Given the description of an element on the screen output the (x, y) to click on. 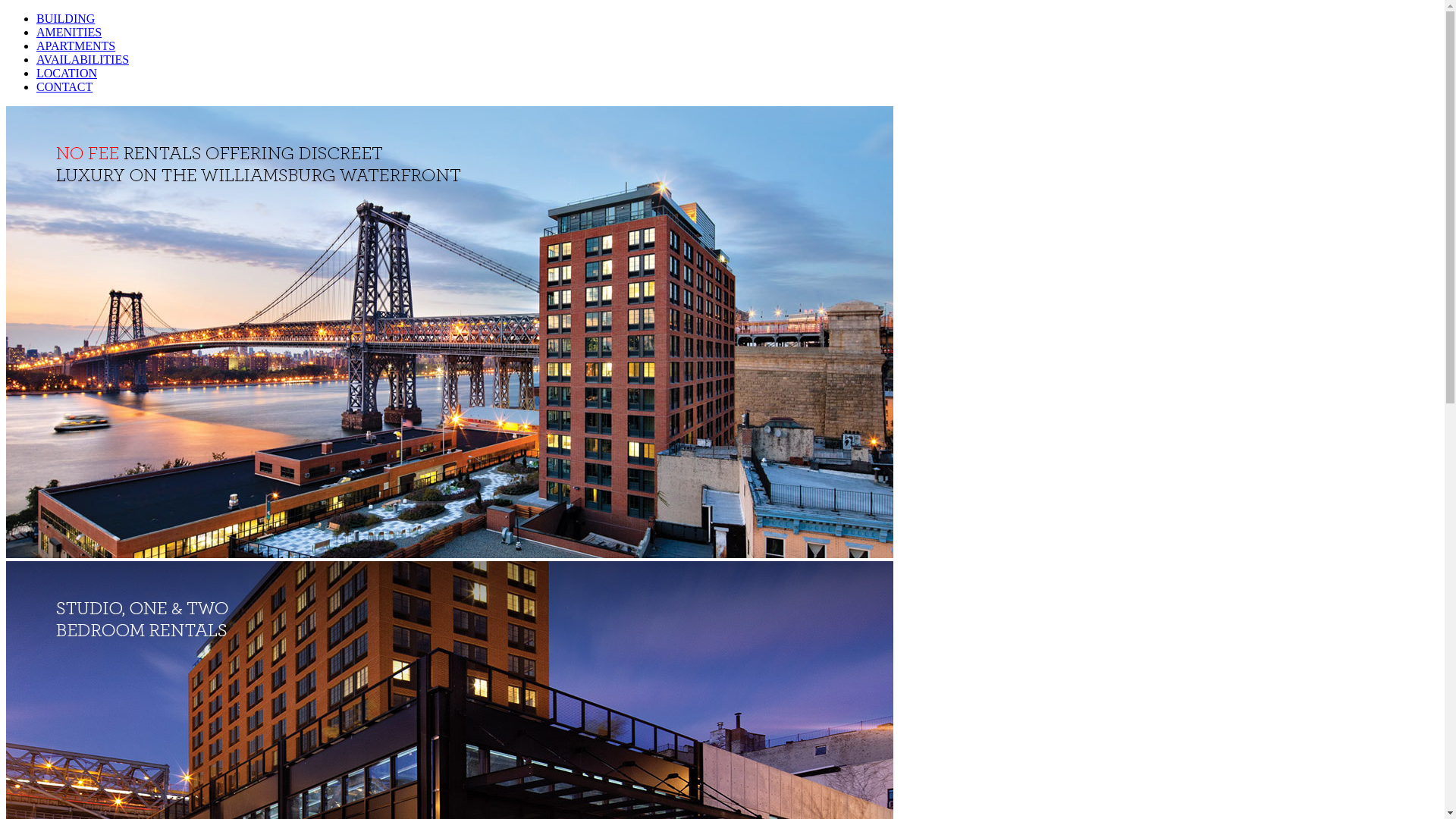
CONTACT Element type: text (64, 86)
AVAILABILITIES Element type: text (82, 59)
APARTMENTS Element type: text (75, 45)
AMENITIES Element type: text (68, 31)
BUILDING Element type: text (65, 18)
LOCATION Element type: text (66, 72)
